Given the description of an element on the screen output the (x, y) to click on. 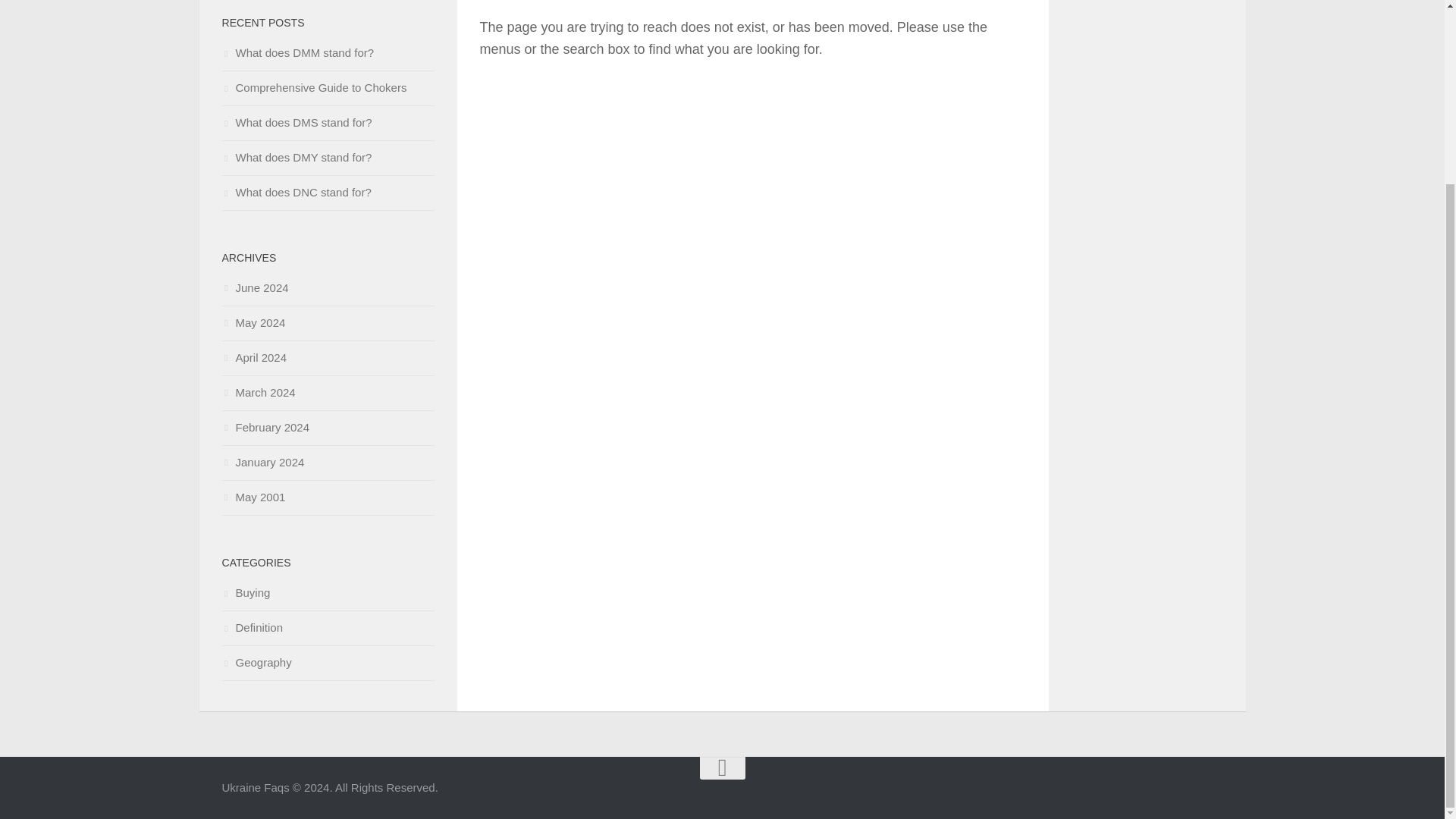
What does DMY stand for? (296, 156)
April 2024 (253, 357)
May 2001 (253, 496)
February 2024 (264, 427)
March 2024 (258, 391)
January 2024 (262, 461)
Buying (245, 592)
May 2024 (253, 322)
June 2024 (254, 287)
What does DMS stand for? (296, 122)
